Given the description of an element on the screen output the (x, y) to click on. 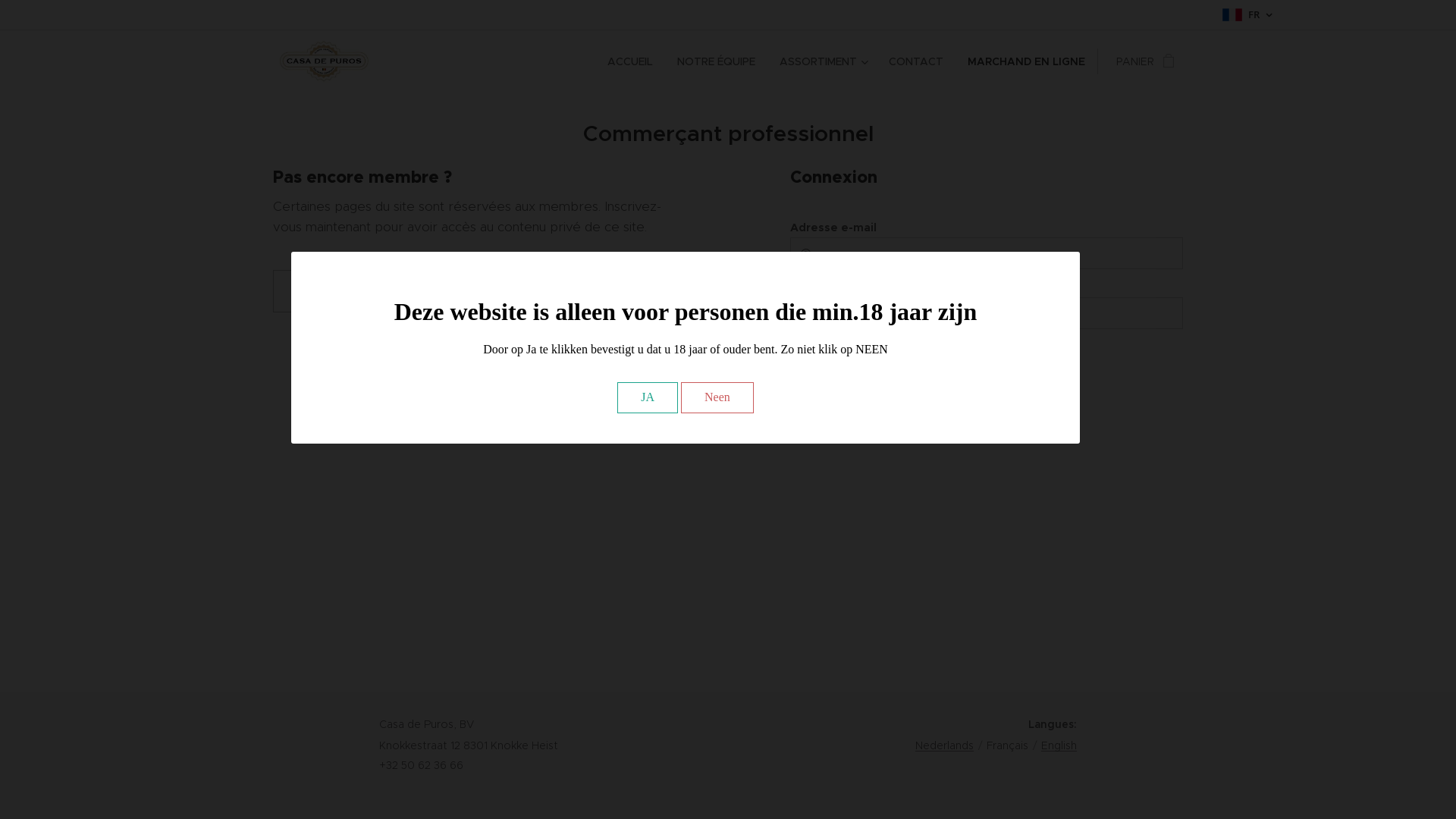
JA Element type: text (647, 397)
ACCUEIL Element type: text (634, 61)
S'identifier Element type: text (875, 360)
CONTACT Element type: text (915, 61)
MARCHAND EN LIGNE Element type: text (1026, 61)
Nederlands Element type: text (944, 745)
English Element type: text (1058, 745)
Neen Element type: text (716, 397)
ASSORTIMENT Element type: text (821, 61)
PANIER Element type: text (1140, 61)
